Given the description of an element on the screen output the (x, y) to click on. 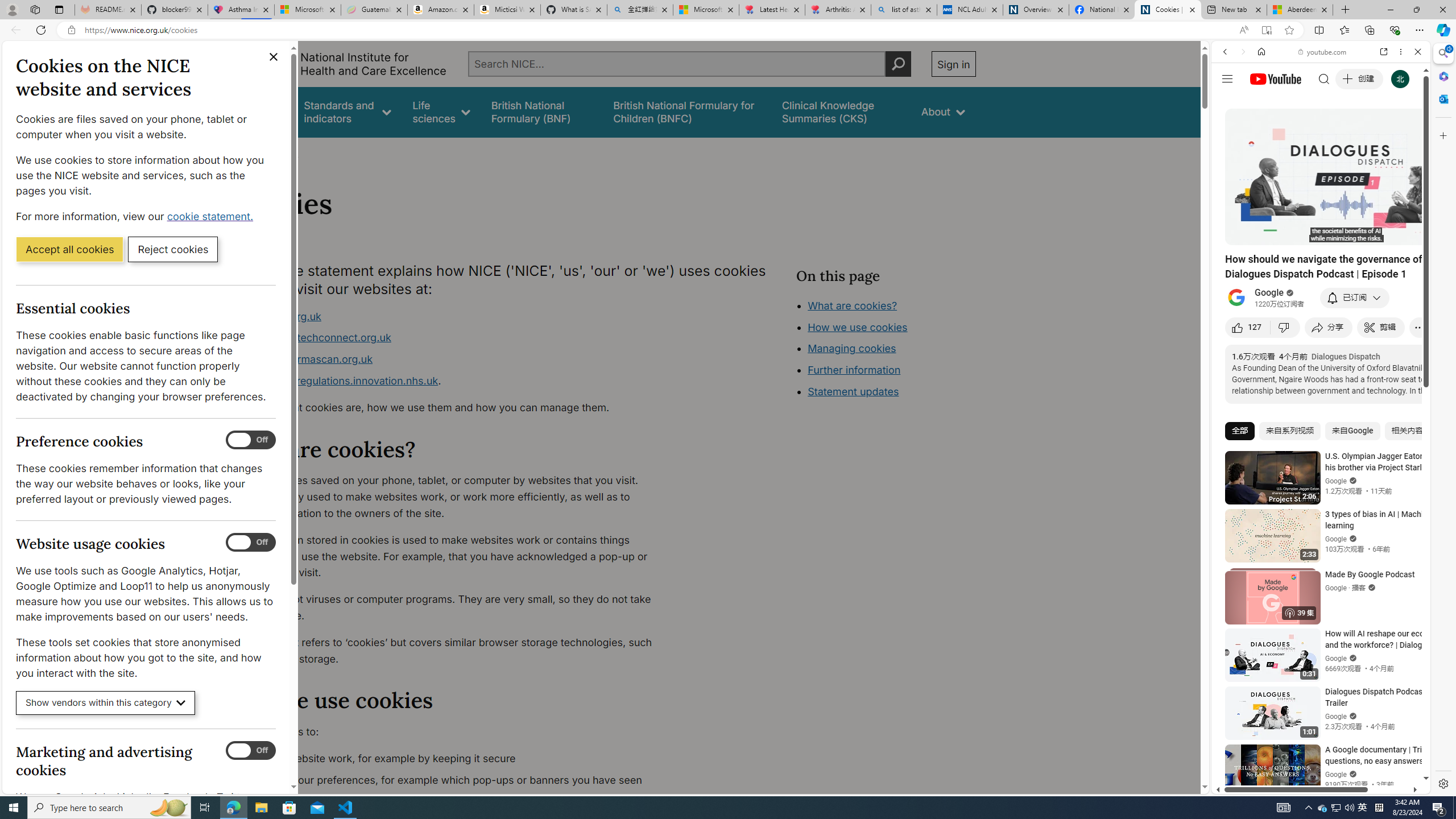
Cookies | About | NICE (1167, 9)
British National Formulary for Children (BNFC) (686, 111)
Class: in-page-nav__list (884, 349)
